Given the description of an element on the screen output the (x, y) to click on. 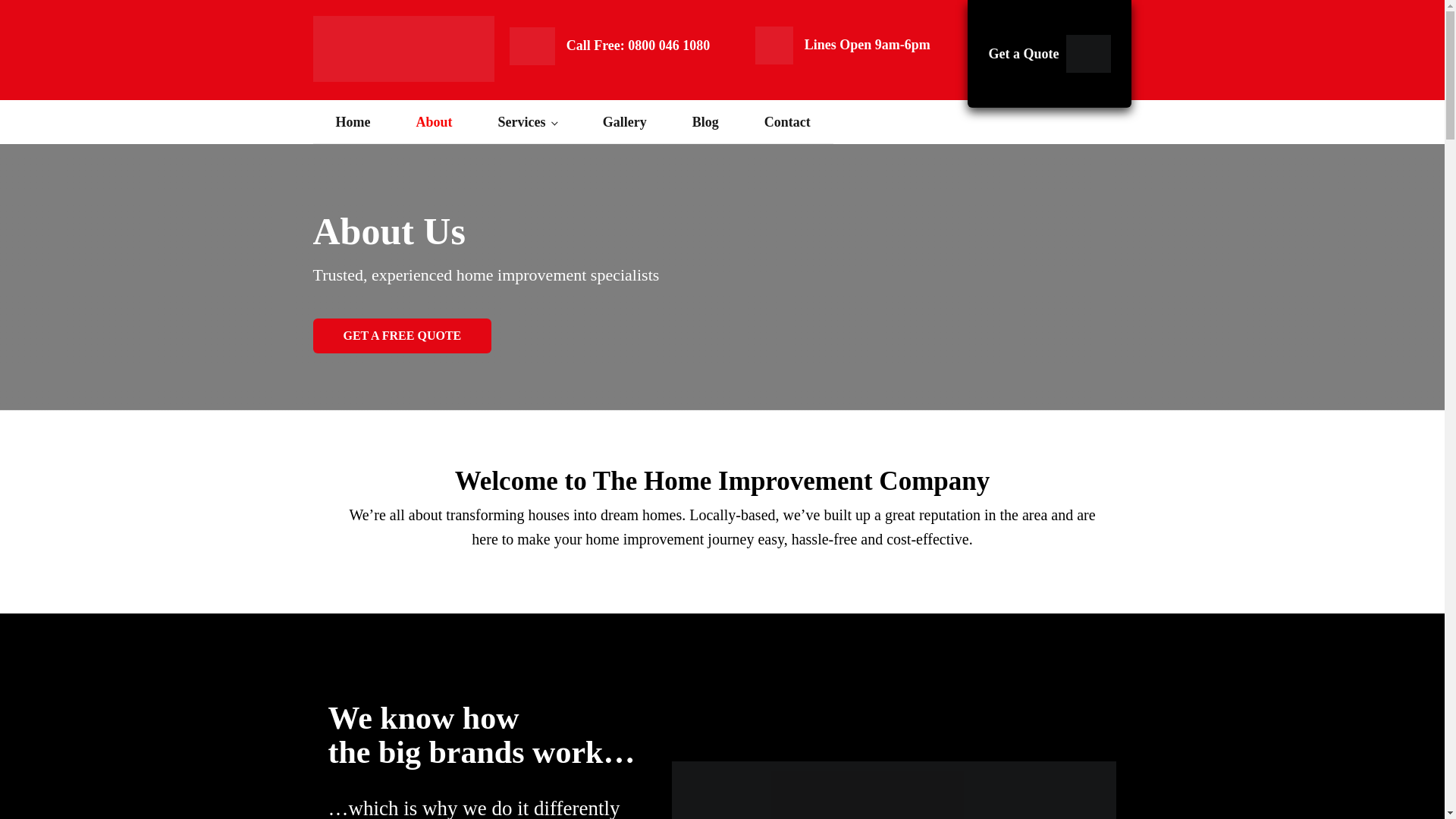
Get a Quote (1049, 53)
0800 046 1080 (668, 45)
Services (526, 122)
Gallery (624, 122)
Contact (786, 122)
Blog (705, 122)
Home (353, 122)
GET A FREE QUOTE (402, 335)
About (433, 122)
